Given the description of an element on the screen output the (x, y) to click on. 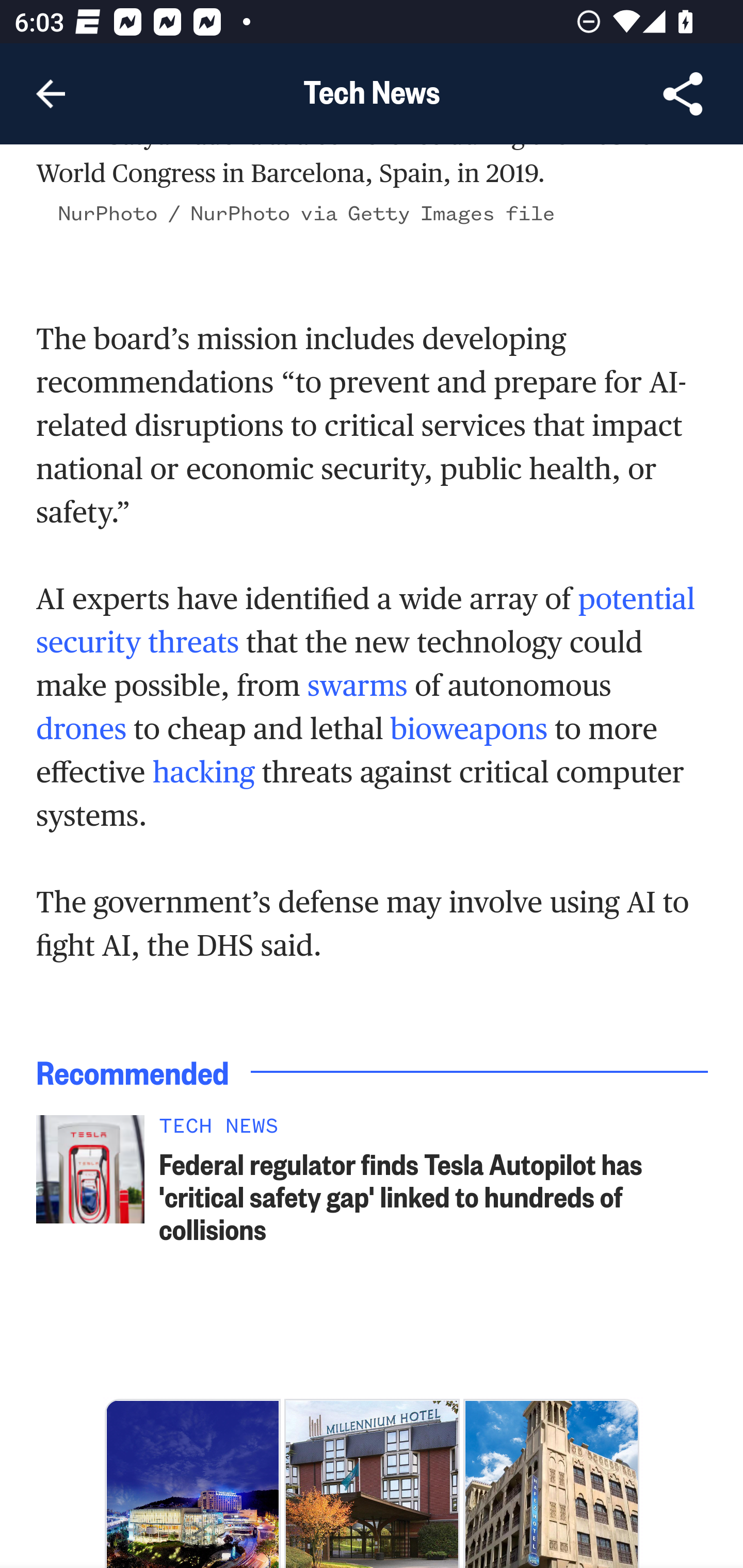
Navigate up (50, 93)
Share Article, button (683, 94)
potential security threats (365, 622)
swarms (356, 687)
drones (81, 731)
bioweapons (469, 731)
hacking (203, 773)
TECH NEWS (434, 1131)
Swiss Grand Hotel Seoul HK$1,173.86 立即預約 (191, 1484)
巴黎戴高樂千禧 酒店 HK$687.48 立即預約 (371, 1484)
Hafez Hotel Apartment HK$134.90 立即預約 (550, 1484)
